Given the description of an element on the screen output the (x, y) to click on. 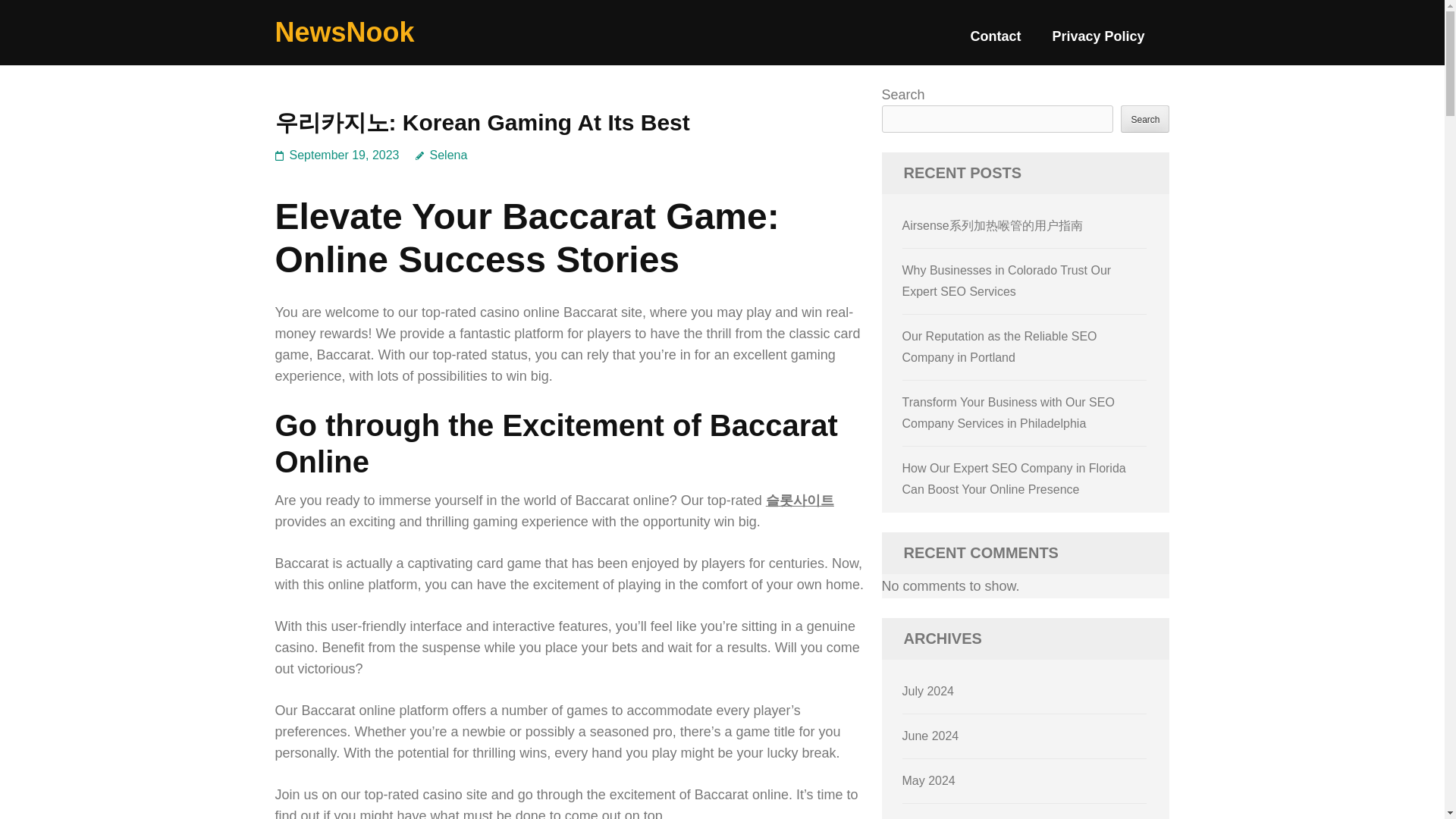
July 2024 (928, 690)
Contact (994, 42)
May 2024 (928, 780)
Selena (440, 154)
Our Reputation as the Reliable SEO Company in Portland (999, 346)
Search (1145, 118)
Privacy Policy (1097, 42)
September 19, 2023 (343, 154)
Why Businesses in Colorado Trust Our Expert SEO Services (1007, 280)
June 2024 (930, 735)
NewsNook (344, 31)
